Given the description of an element on the screen output the (x, y) to click on. 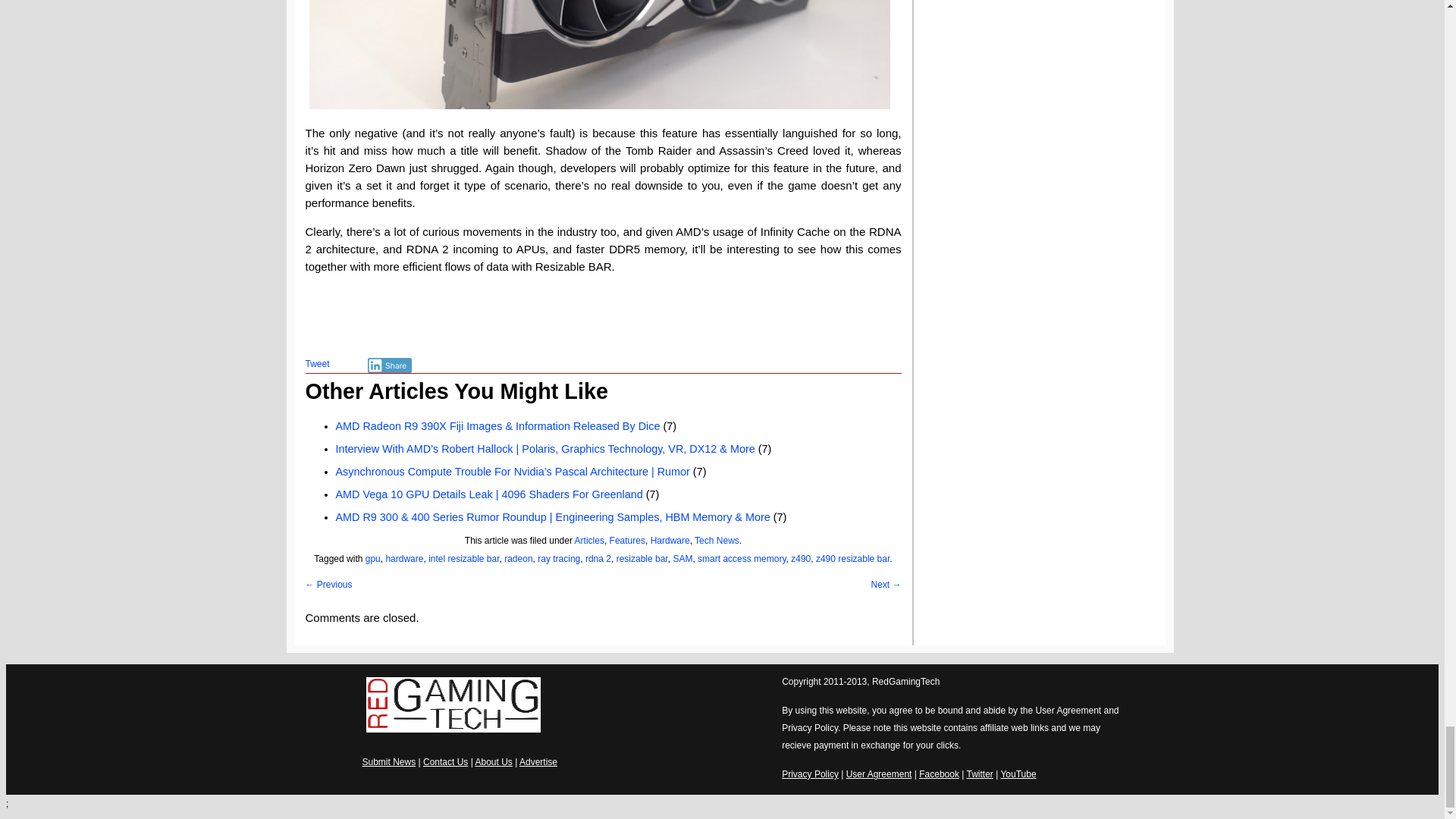
Articles (589, 540)
Tweet (316, 363)
Features (627, 540)
gpu (372, 558)
hardware (404, 558)
Tech News (716, 540)
Hardware (670, 540)
Share (390, 365)
intel resizable bar (463, 558)
